Given the description of an element on the screen output the (x, y) to click on. 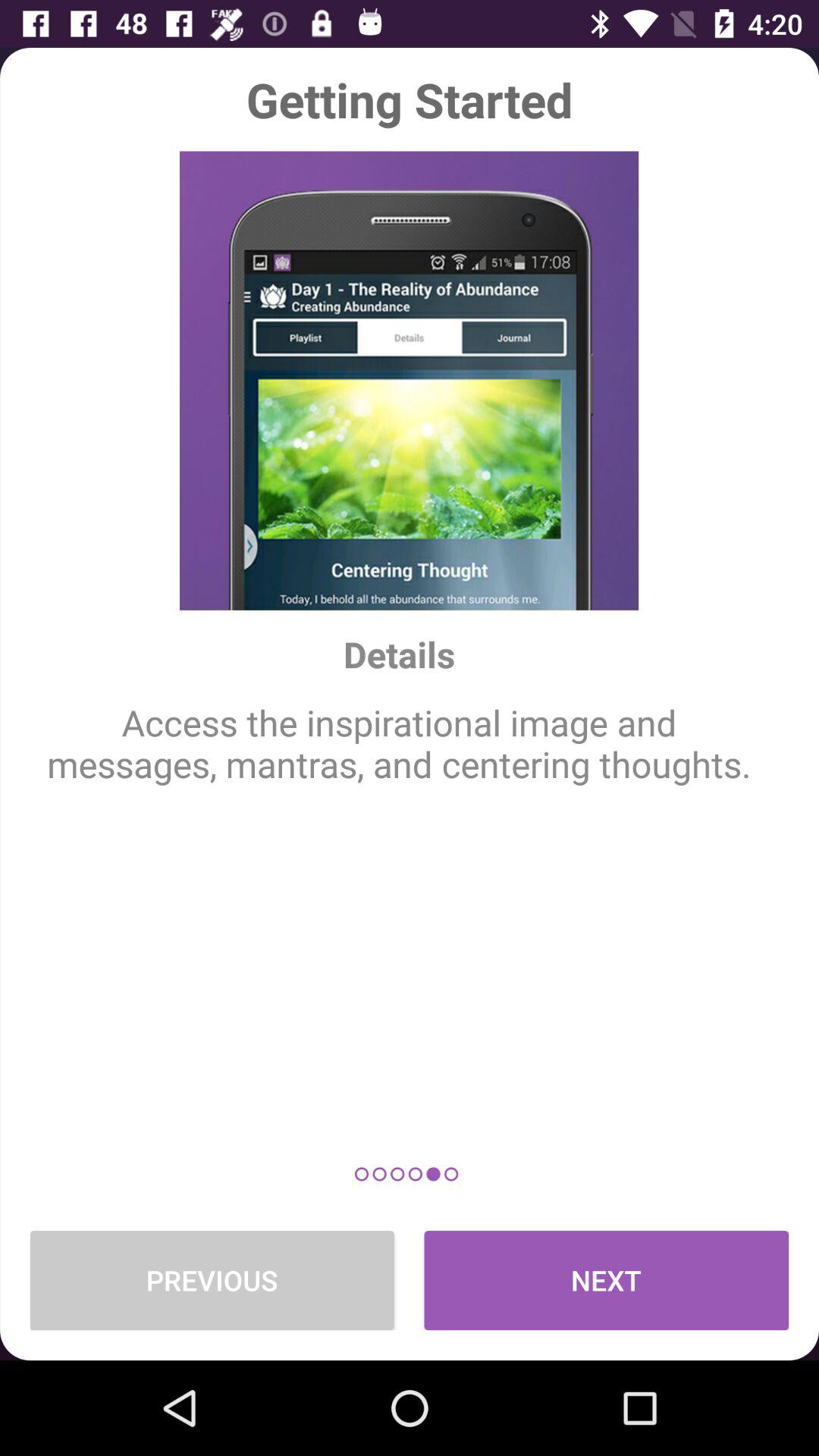
press the icon next to the previous item (606, 1280)
